Given the description of an element on the screen output the (x, y) to click on. 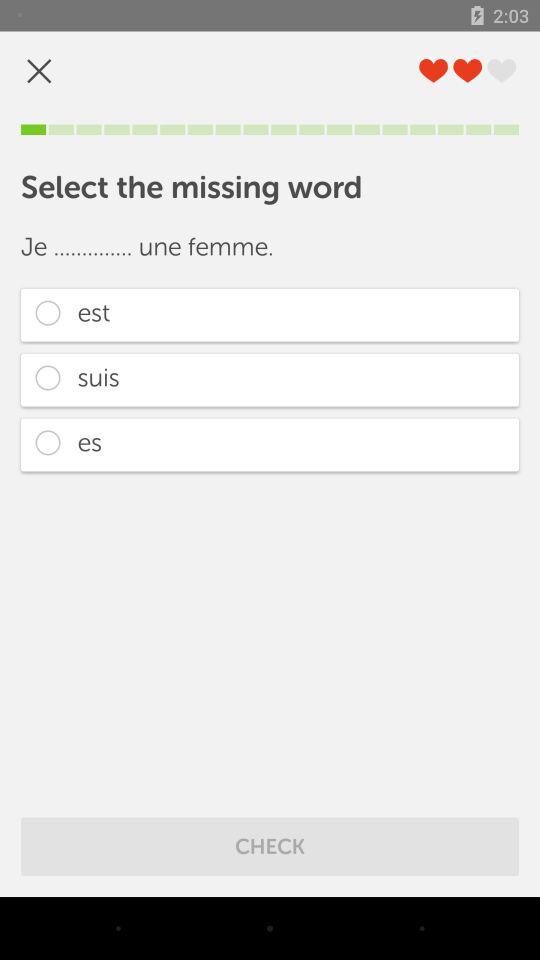
it 's a close button (39, 70)
